Given the description of an element on the screen output the (x, y) to click on. 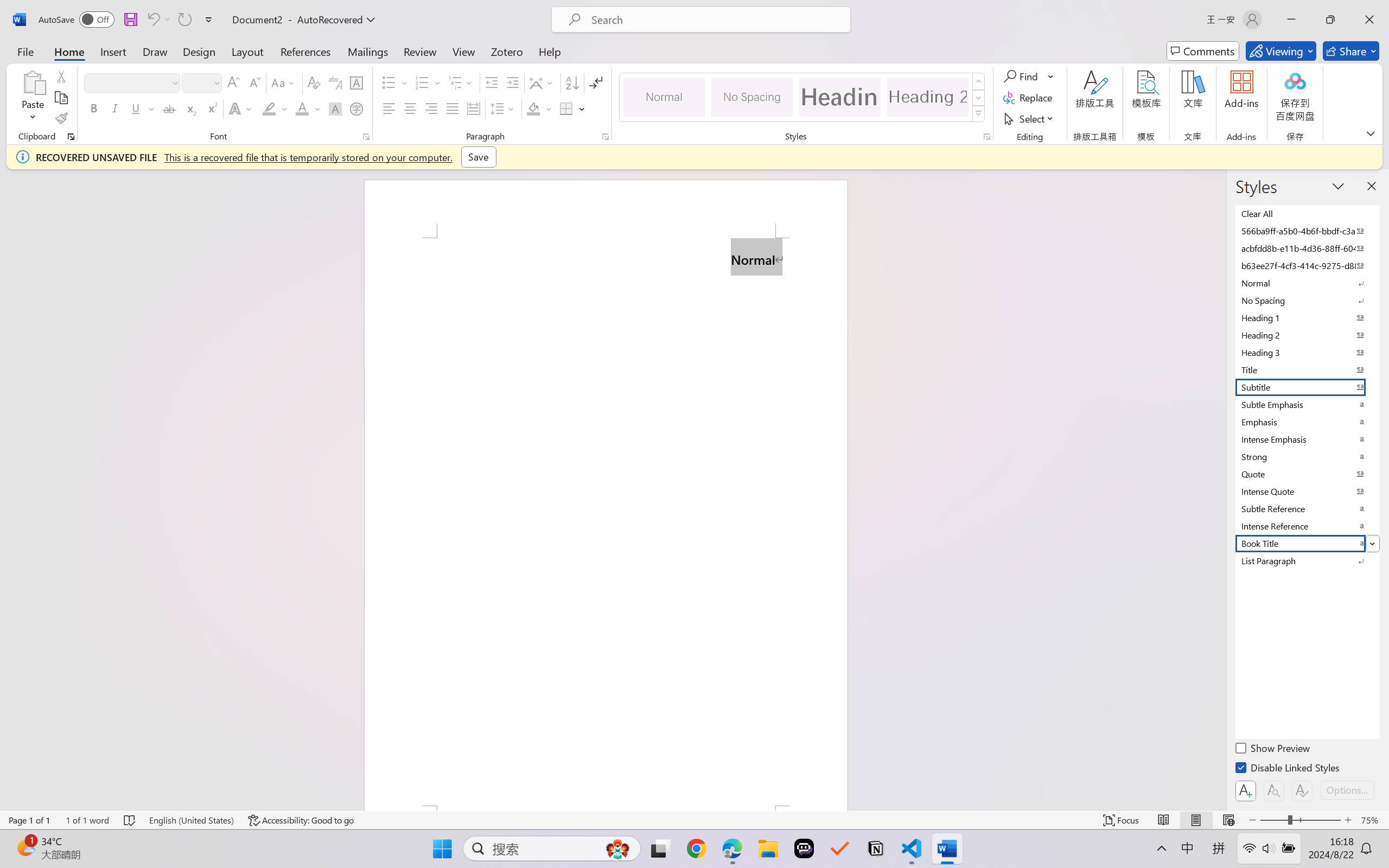
Styles (978, 113)
No Spacing (1306, 300)
Mode (1280, 50)
acbfdd8b-e11b-4d36-88ff-6049b138f862 (1306, 247)
Character Border (356, 82)
Bold (94, 108)
Font... (365, 136)
Page Number Page 1 of 1 (29, 819)
b63ee27f-4cf3-414c-9275-d88e3f90795e (1306, 265)
Select (1030, 118)
